Given the description of an element on the screen output the (x, y) to click on. 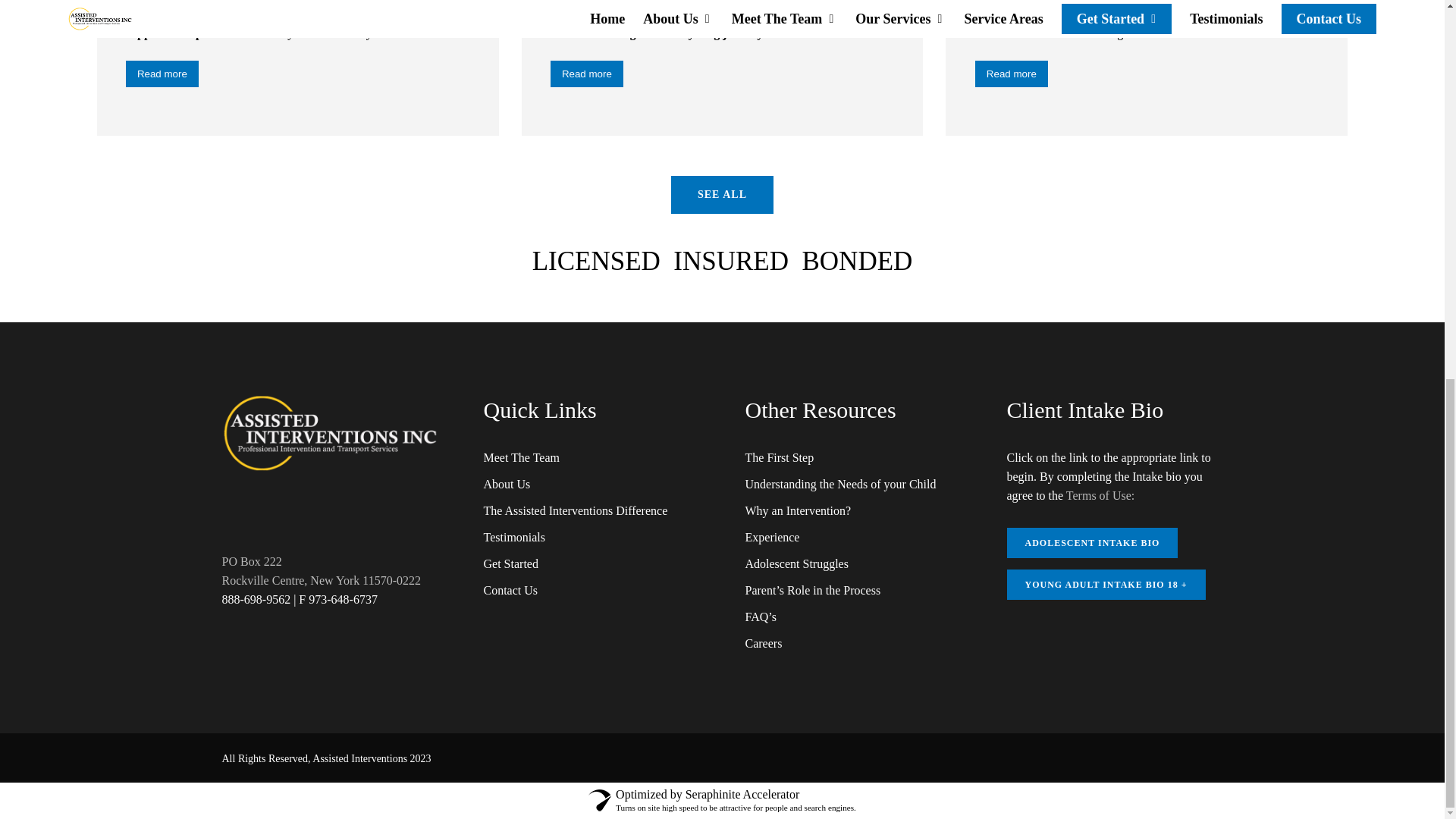
Read more (1011, 73)
SEE ALL (722, 194)
PO Box 222 (251, 561)
Read more (161, 73)
Read more (586, 73)
